Given the description of an element on the screen output the (x, y) to click on. 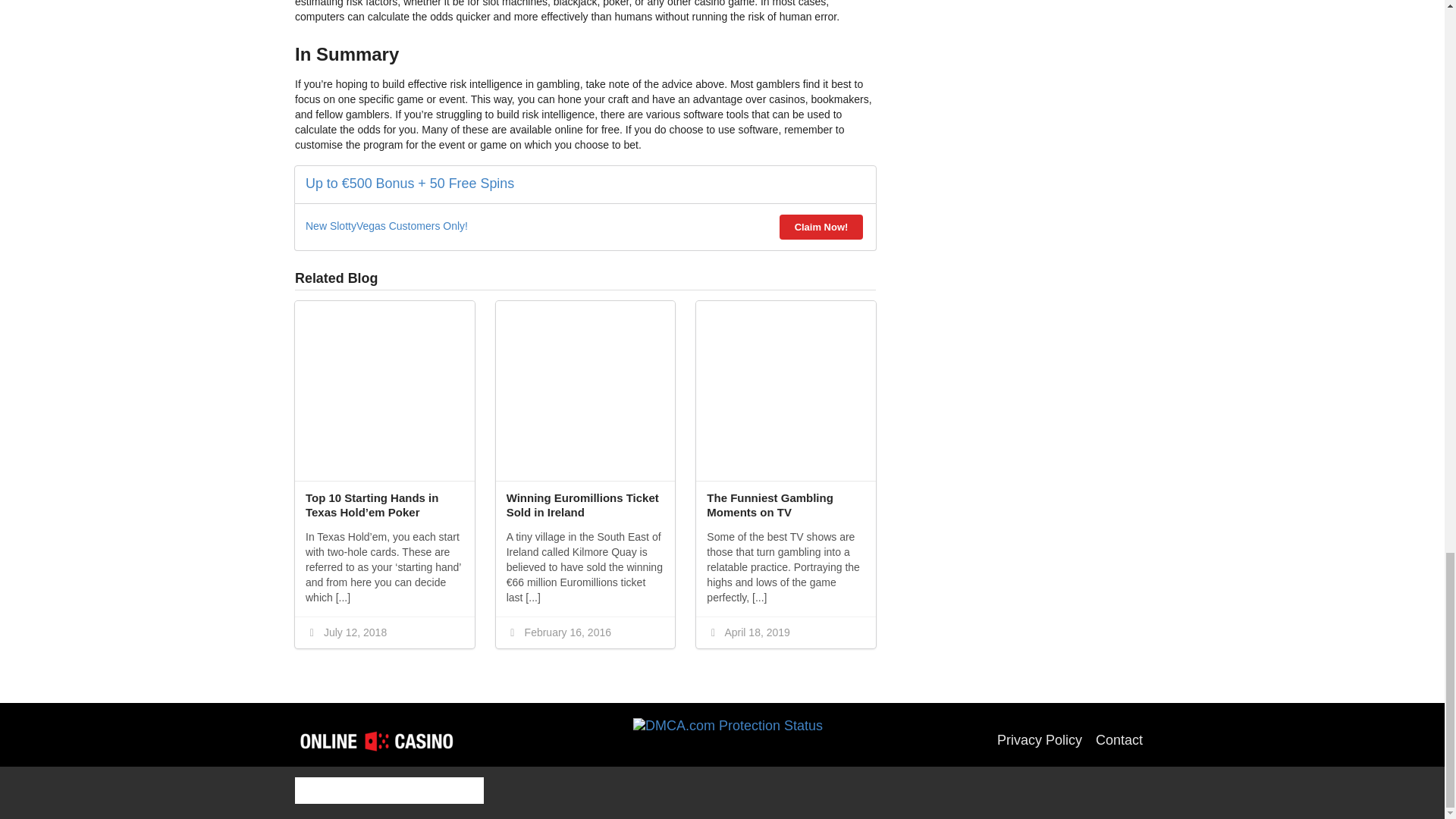
Privacy Policy (1039, 740)
Contact (1119, 740)
DMCA.com Protection Status (727, 740)
